Given the description of an element on the screen output the (x, y) to click on. 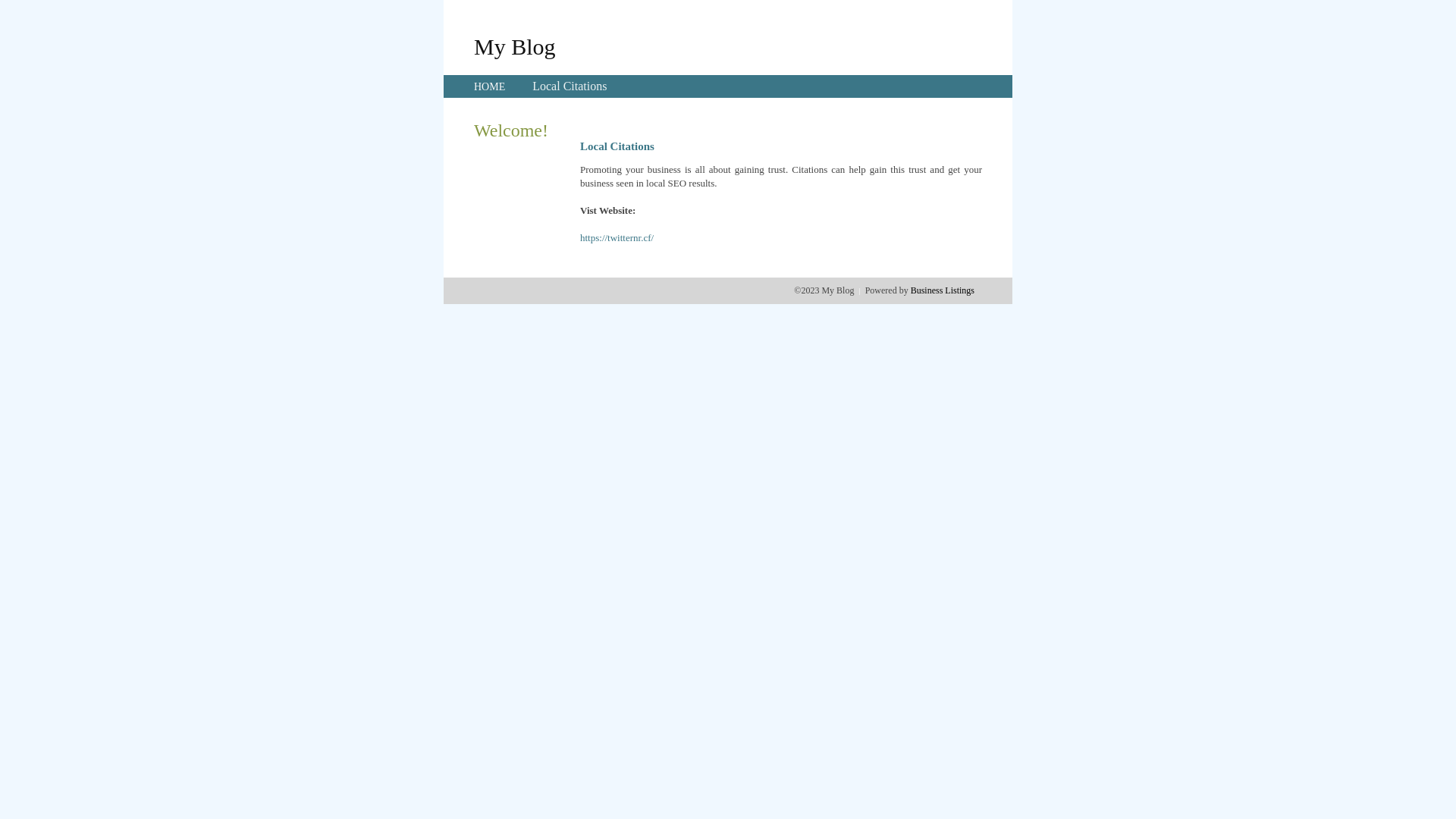
HOME Element type: text (489, 86)
Local Citations Element type: text (569, 85)
Business Listings Element type: text (942, 290)
https://twitternr.cf/ Element type: text (616, 237)
My Blog Element type: text (514, 46)
